Given the description of an element on the screen output the (x, y) to click on. 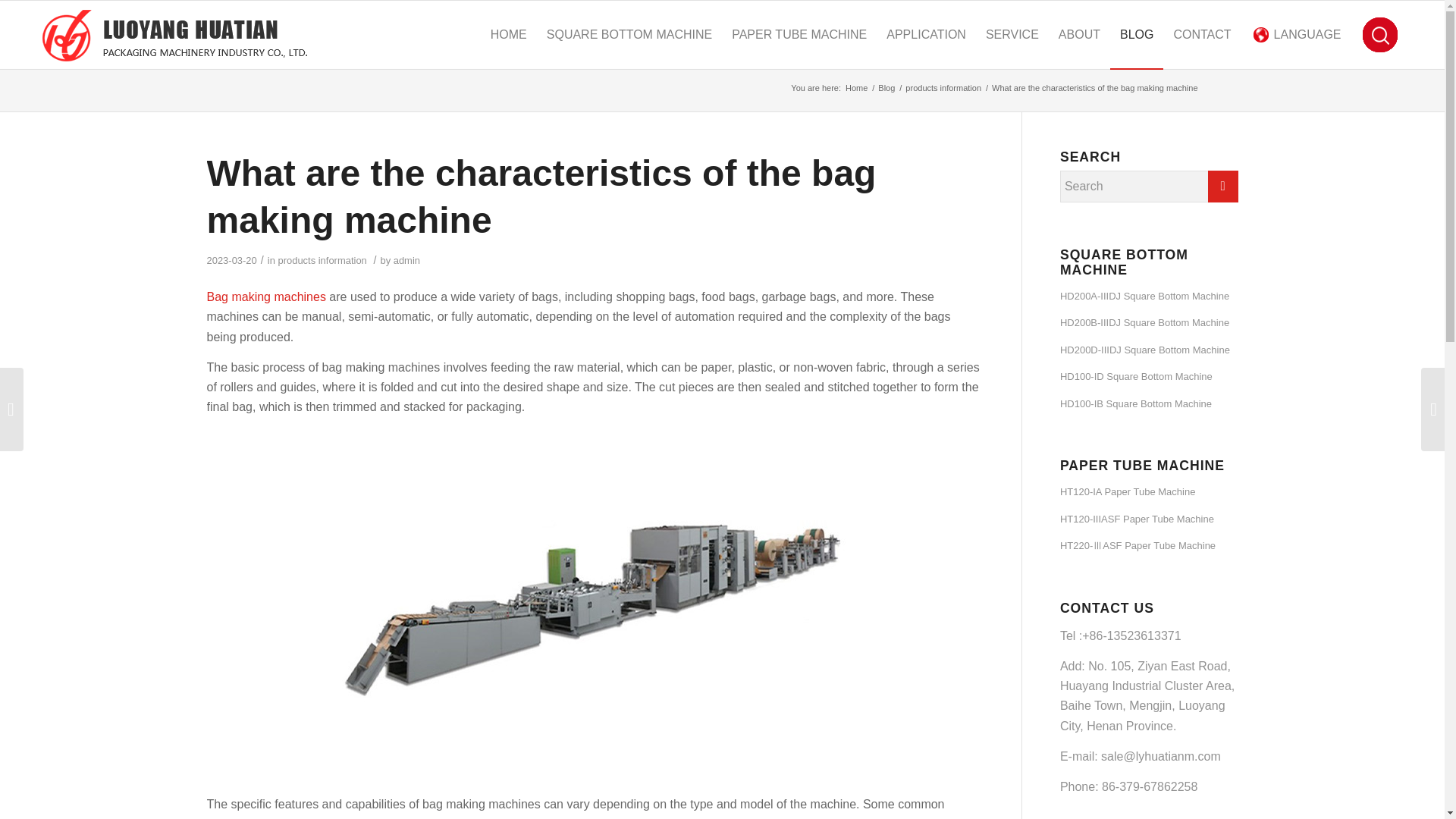
HD200D-IIIDJ Square Bottom Machine (1149, 350)
SQUARE BOTTOM MACHINE (629, 34)
CONTACT (1201, 34)
Bag making machines (265, 296)
PAPER TUBE MACHINE (799, 34)
LANGUAGE (1296, 34)
HD200A-IIIDJ Square Bottom Machine (1149, 296)
Blog (886, 88)
Home (856, 88)
Posts by admin (406, 260)
products information (322, 260)
HuaTian (856, 88)
admin (406, 260)
APPLICATION (925, 34)
